Given the description of an element on the screen output the (x, y) to click on. 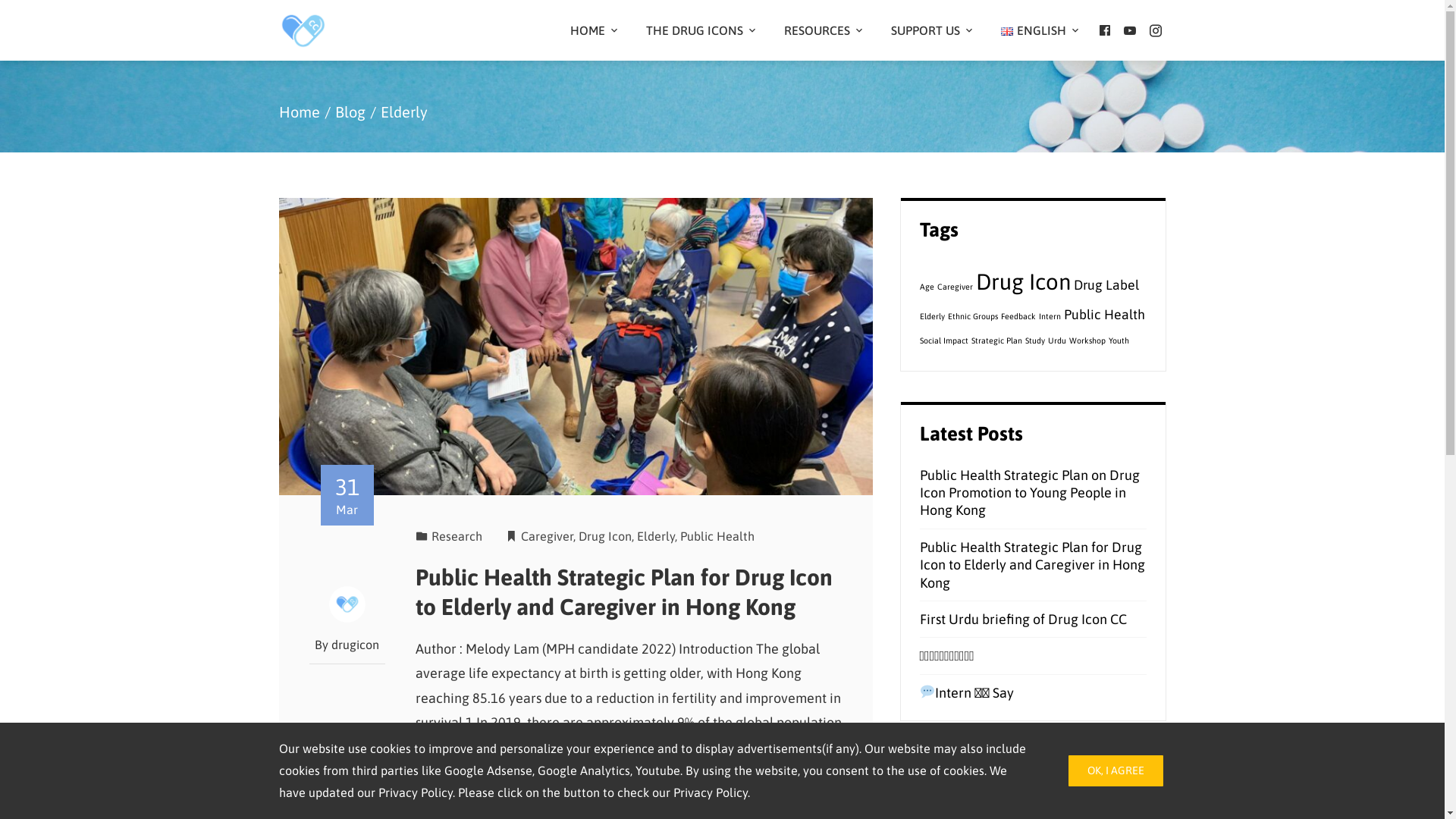
SUPPORT US Element type: text (931, 30)
Elderly Element type: text (931, 315)
THE DRUG ICONS Element type: text (700, 30)
OK, I AGREE Element type: text (1114, 770)
Social Impact Element type: text (943, 340)
Caregiver Element type: text (954, 286)
Workshop Element type: text (1087, 340)
Urdu Element type: text (1057, 340)
Youth Element type: text (1118, 340)
Drug Label Element type: text (1106, 284)
Age Element type: text (926, 286)
drugicon Element type: text (355, 644)
Research Element type: text (456, 535)
Intern Element type: text (1049, 315)
Drug Icon Element type: text (1022, 281)
Drug Icon Element type: text (604, 535)
Ethnic Groups Element type: text (972, 315)
Public Health Element type: text (717, 535)
First Urdu briefing of Drug Icon CC Element type: text (1022, 619)
Public Health Element type: text (1103, 314)
Home Element type: text (299, 111)
Elderly Element type: text (655, 535)
Blog Element type: text (350, 111)
Study Element type: text (1034, 340)
ENGLISH Element type: text (1039, 30)
Caregiver Element type: text (546, 535)
Feedback Element type: text (1018, 315)
HOME Element type: text (593, 30)
RESOURCES Element type: text (822, 30)
Strategic Plan Element type: text (995, 340)
